Given the description of an element on the screen output the (x, y) to click on. 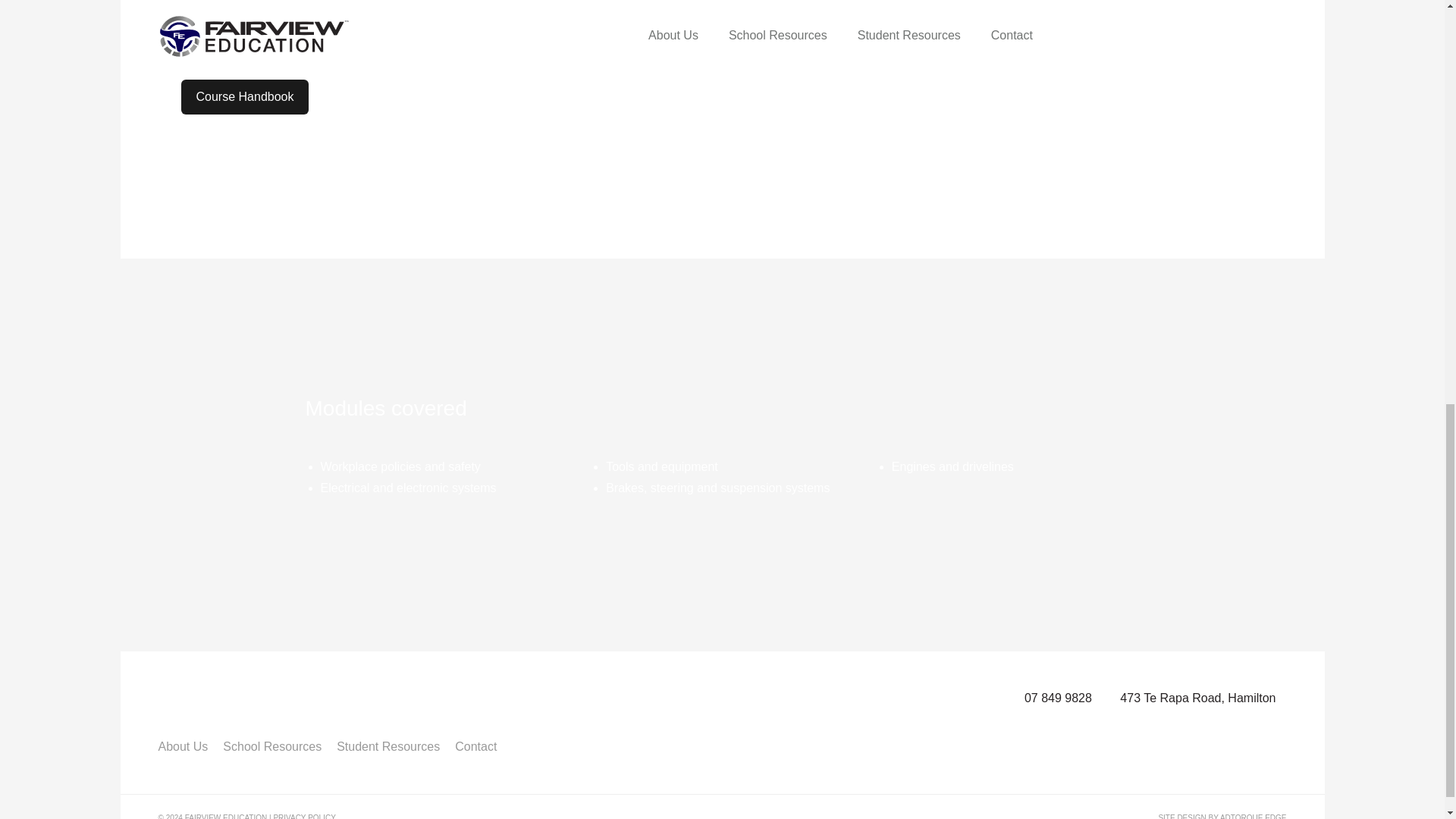
About Us (182, 746)
PRIVACY POLICY (303, 816)
07 849 9828 (1058, 697)
FeesFree.govt.nz (416, 4)
School Resources (271, 746)
SITE DESIGN BY ADTORQUE EDGE (1221, 814)
Contact (475, 746)
473 Te Rapa Road, Hamilton (1197, 697)
Student Resources (387, 746)
Course Handbook (244, 95)
